Given the description of an element on the screen output the (x, y) to click on. 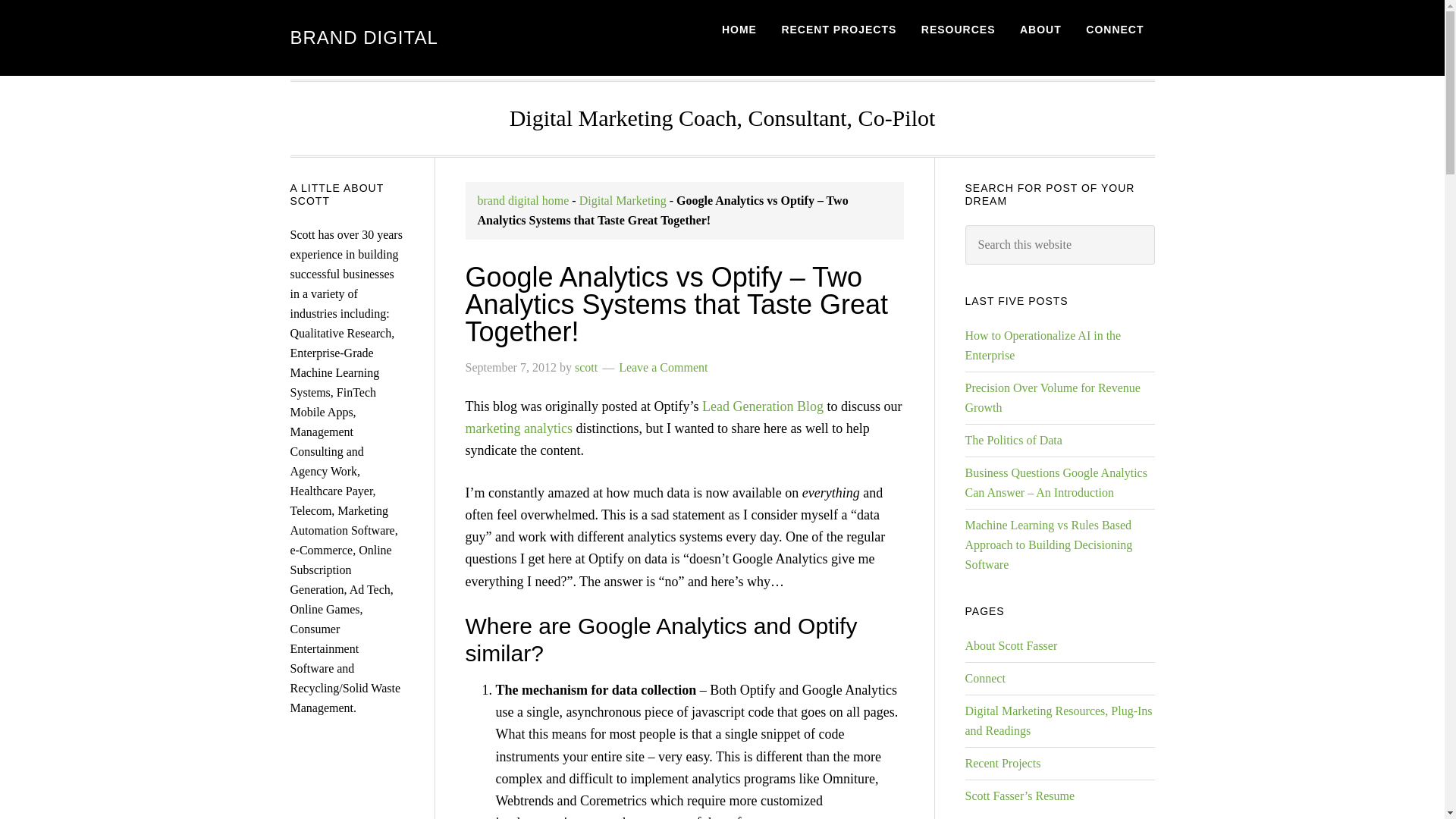
marketing analytics (518, 427)
Connect (983, 677)
Summary Website Metrics plus Deep Visitor Intelligence (518, 427)
Lead Generation Blog (762, 406)
HOME (739, 29)
brand digital home (523, 200)
How to Operationalize AI in the Enterprise (1042, 345)
RESOURCES (958, 29)
Digital Marketing Resources, Plug-Ins and Readings (1057, 720)
ABOUT (1040, 29)
Lead Generation Software Blog (762, 406)
Learn about Scott Fasser and Brand Digital (1040, 29)
Recent Projects (1002, 762)
